Given the description of an element on the screen output the (x, y) to click on. 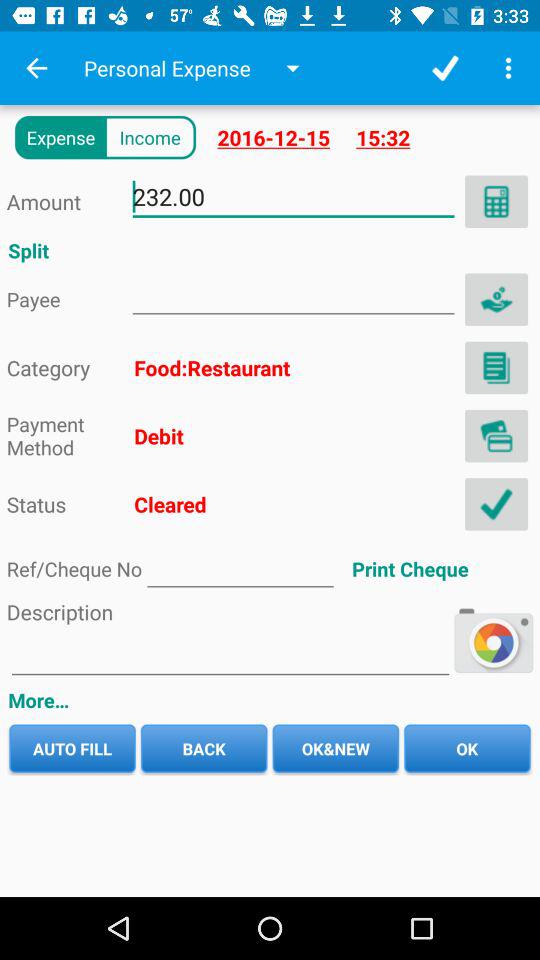
book pega (496, 367)
